Given the description of an element on the screen output the (x, y) to click on. 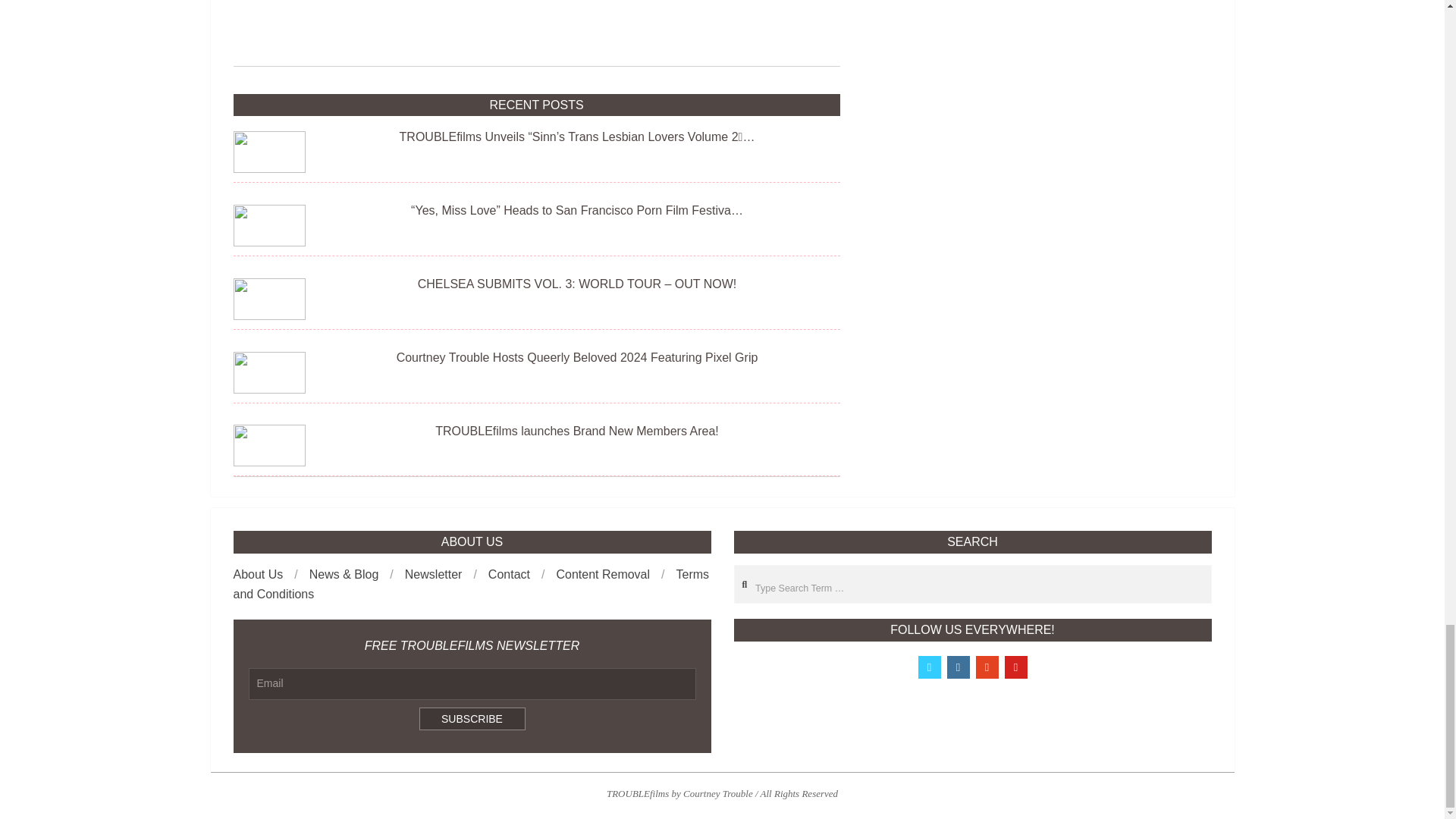
Subscribe (471, 718)
